Given the description of an element on the screen output the (x, y) to click on. 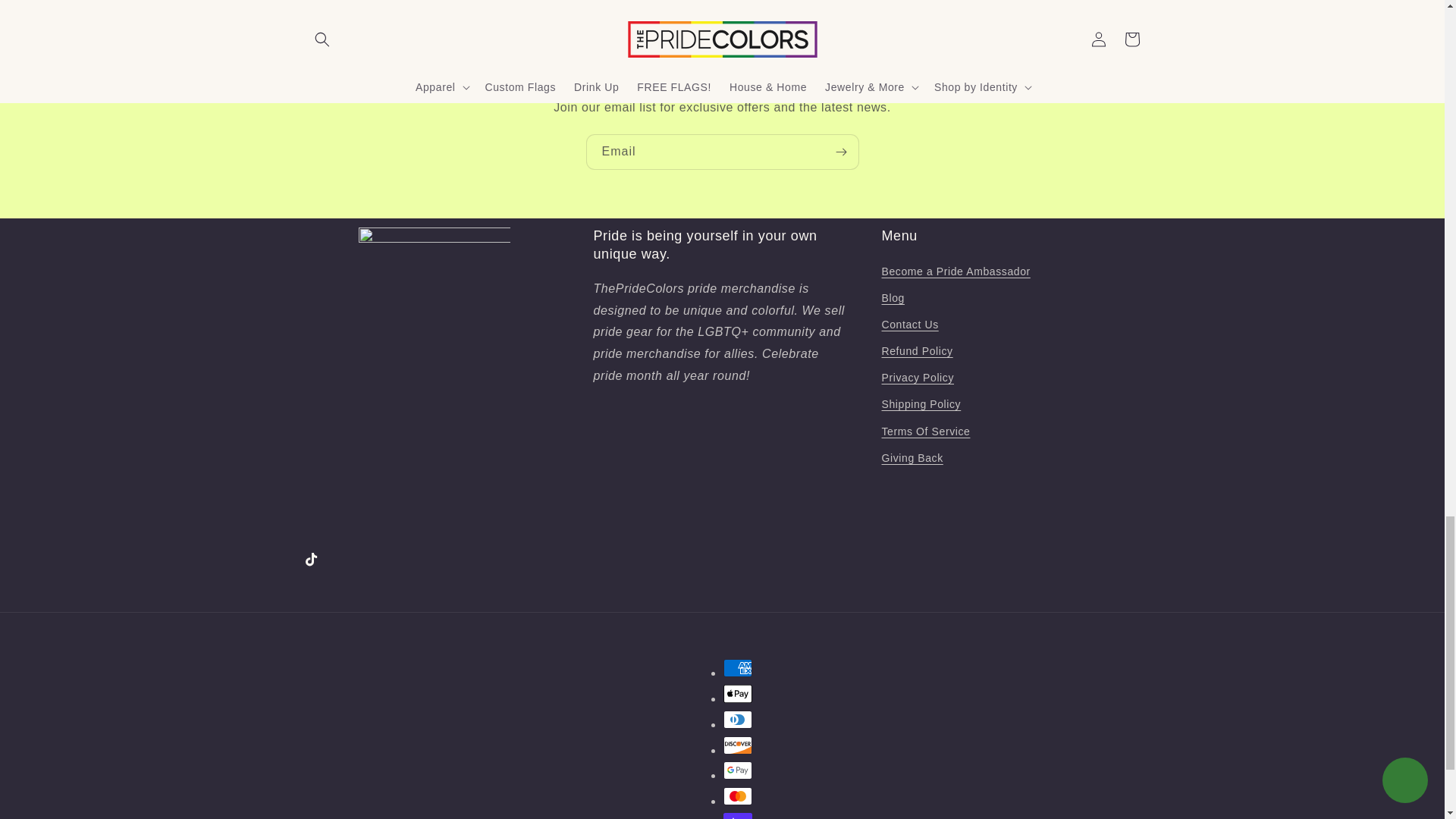
Shop Pay (737, 816)
American Express (737, 668)
Discover (737, 745)
Apple Pay (737, 693)
Google Pay (737, 770)
Mastercard (737, 796)
Diners Club (737, 719)
